Given the description of an element on the screen output the (x, y) to click on. 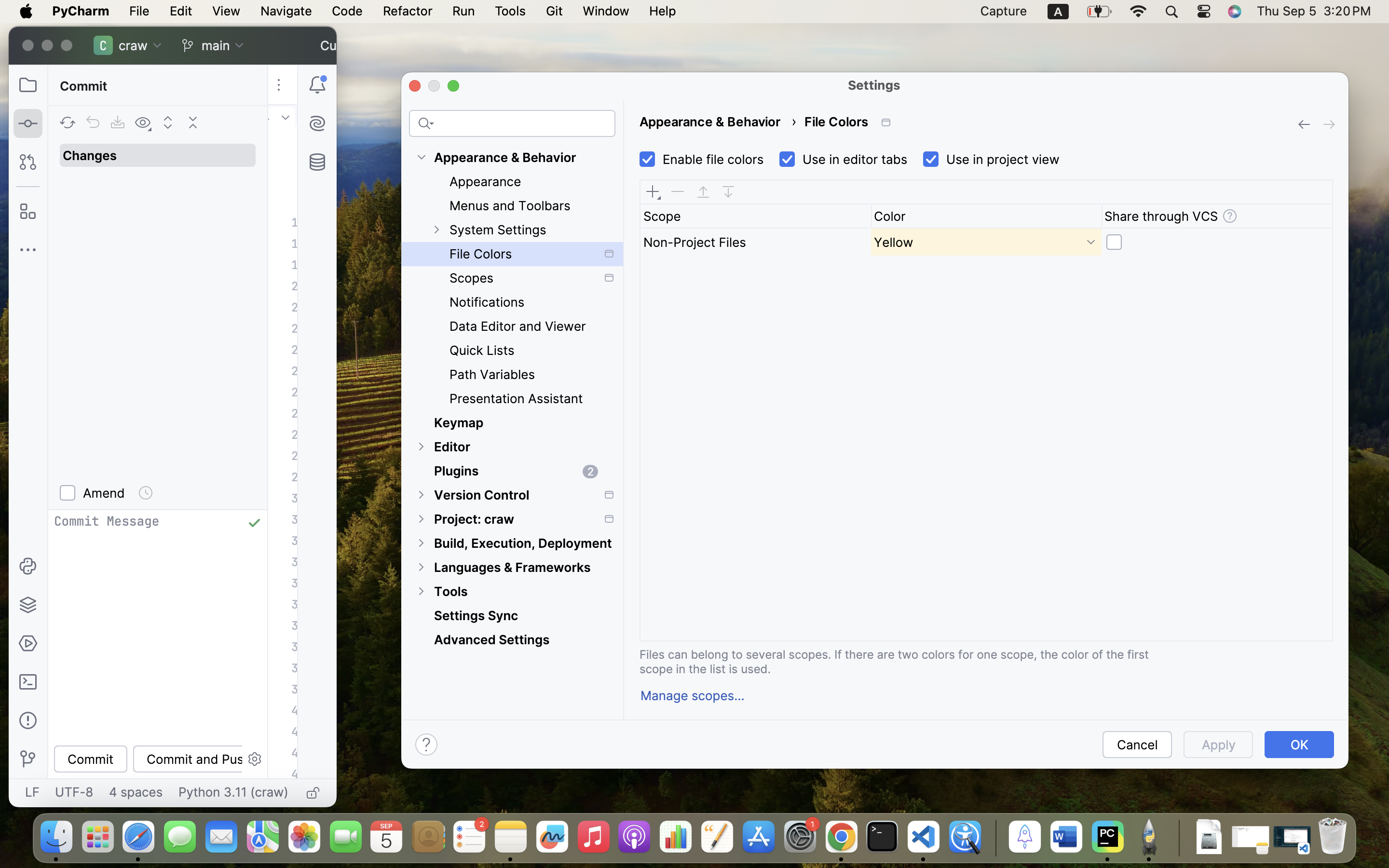
0 Element type: AXCell (1216, 241)
0 Element type: AXOutline (512, 432)
